Given the description of an element on the screen output the (x, y) to click on. 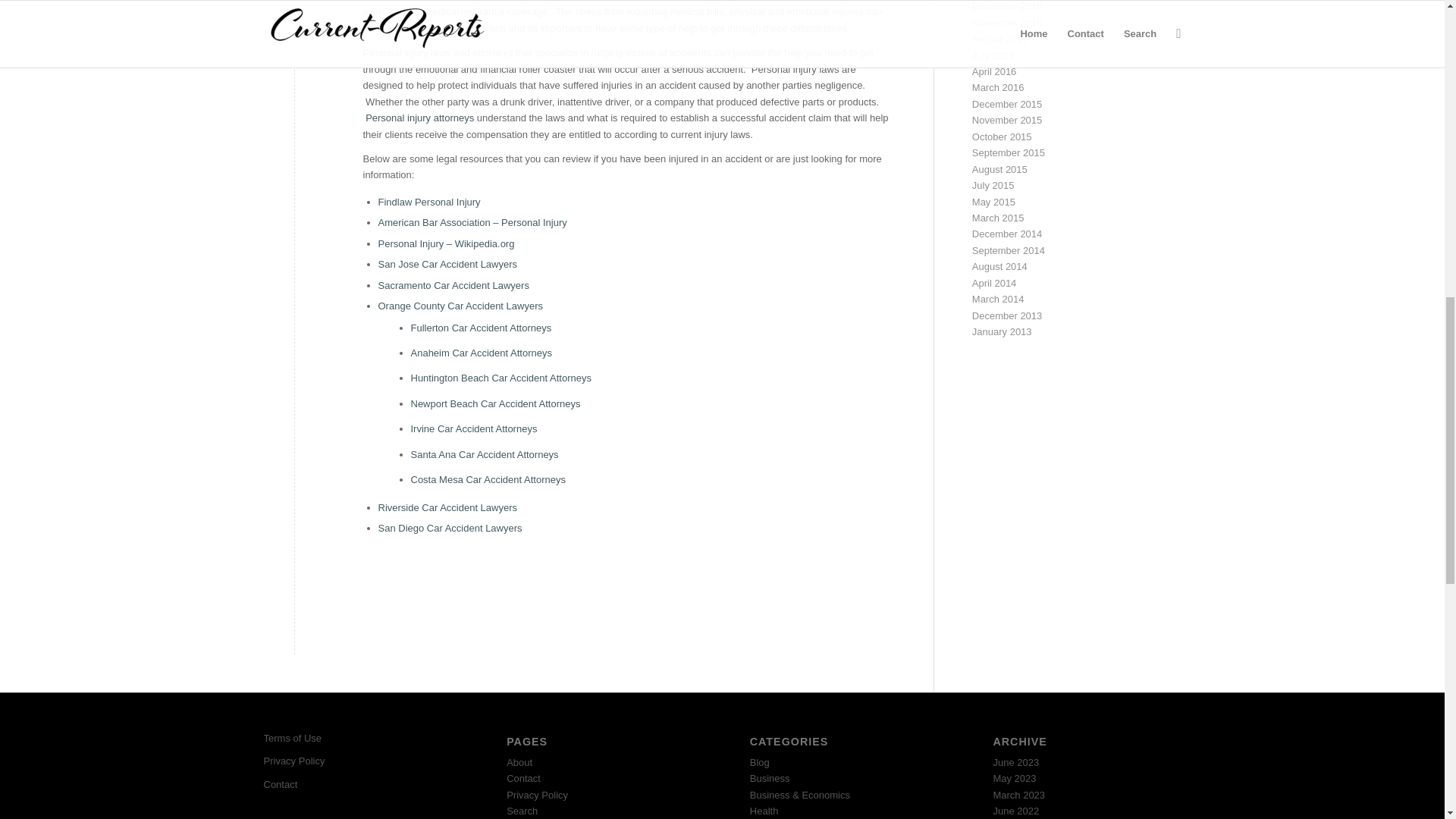
Fullerton Car Accident Attorneys (480, 327)
San Jose Car Accident Lawyers (446, 264)
Santa Ana Car Accident Attorneys (484, 454)
Orange County Car Accident Lawyers (460, 306)
Riverside Car Accident Lawyers (446, 507)
Newport Beach Car Accident Attorneys (495, 403)
Costa Mesa Car Accident Attorneys (488, 479)
Findlaw Personal Injury (428, 202)
Sacramento Car Accident Lawyers (452, 285)
San Diego Car Accident Lawyers (449, 527)
Anaheim Car Accident Attorneys (480, 352)
Personal injury attorneys (419, 117)
Huntington Beach Car Accident Attorneys (500, 378)
Irvine Car Accident Attorneys (473, 428)
